Given the description of an element on the screen output the (x, y) to click on. 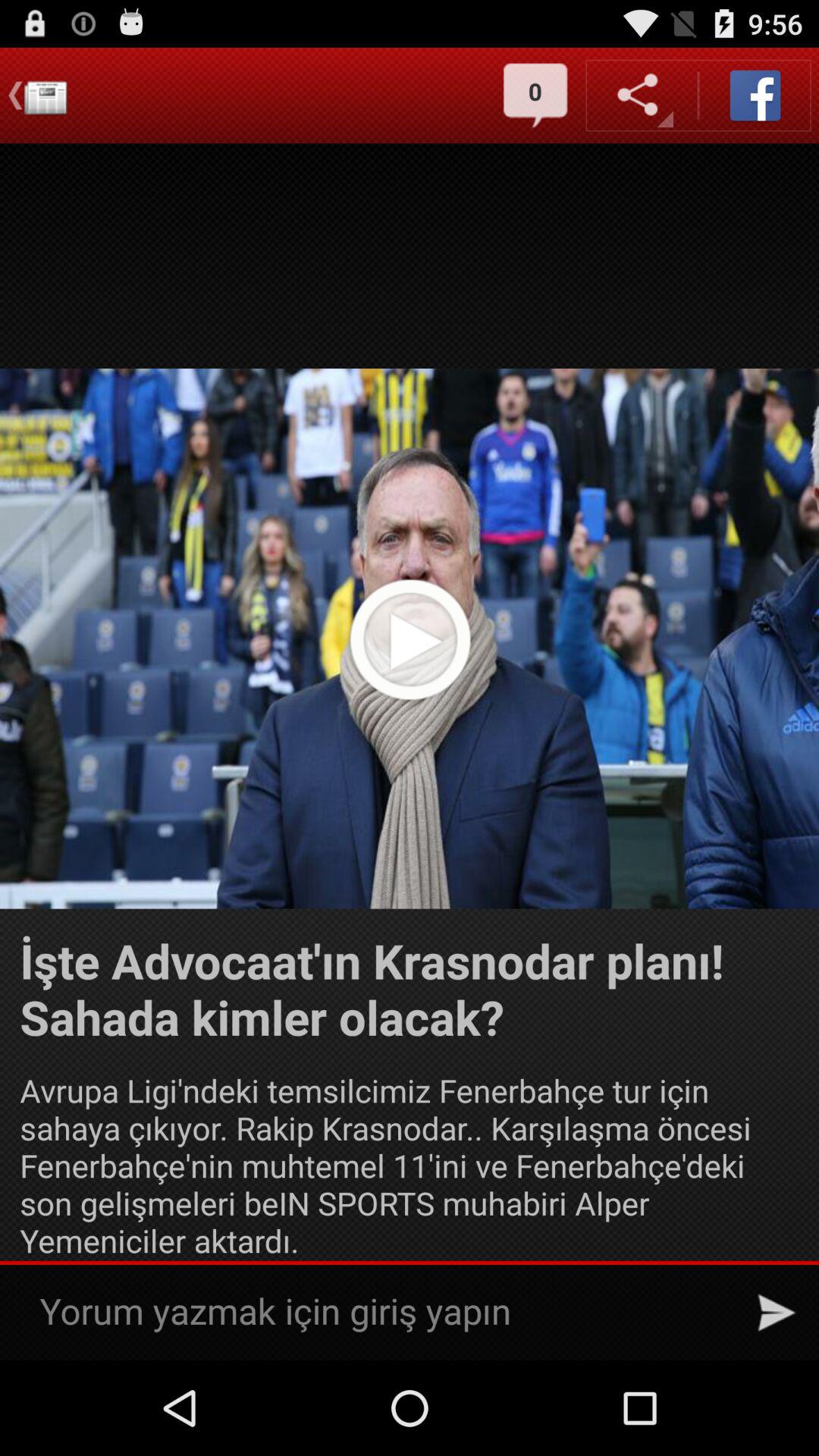
send message (776, 1312)
